Given the description of an element on the screen output the (x, y) to click on. 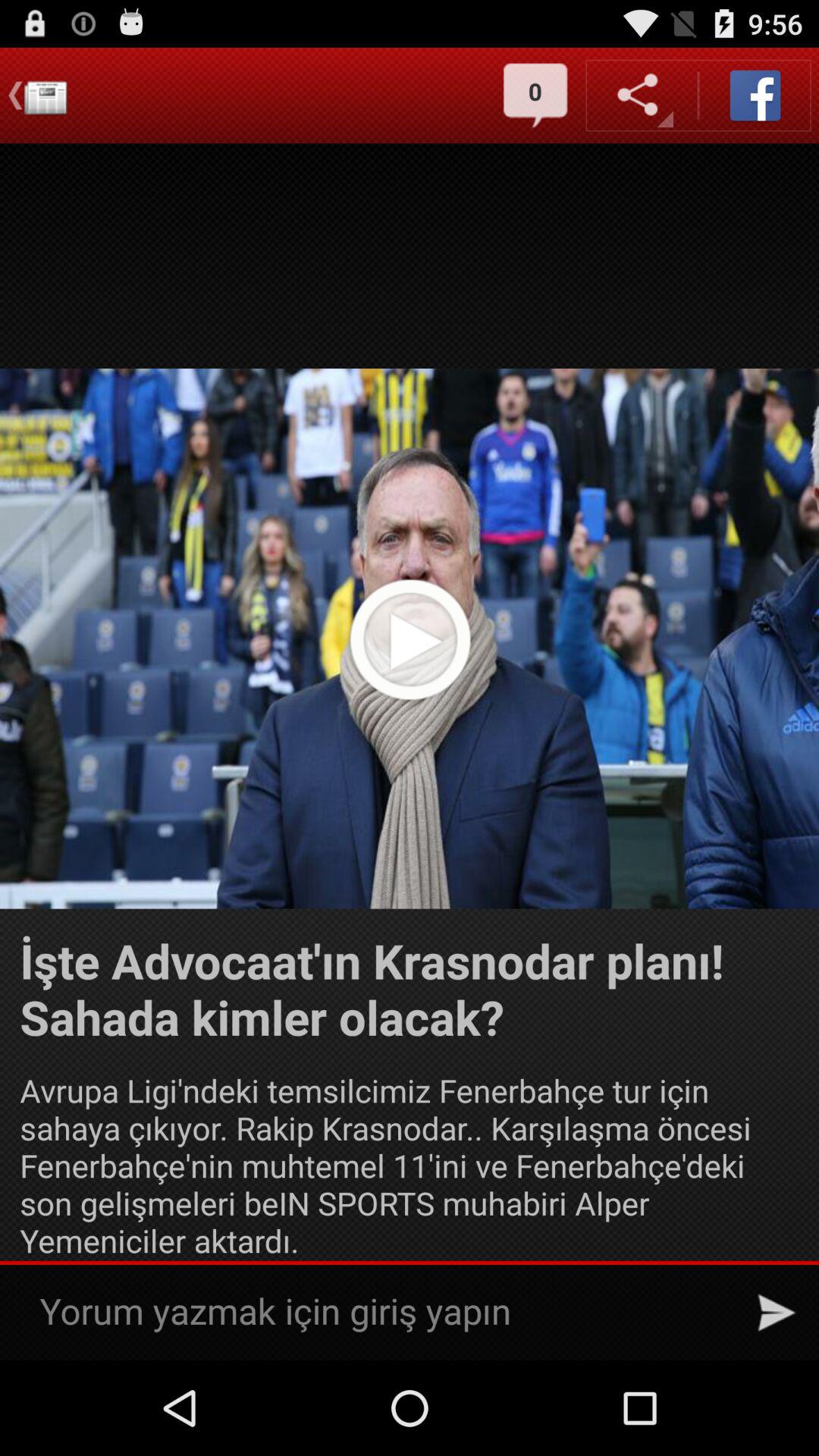
send message (776, 1312)
